Given the description of an element on the screen output the (x, y) to click on. 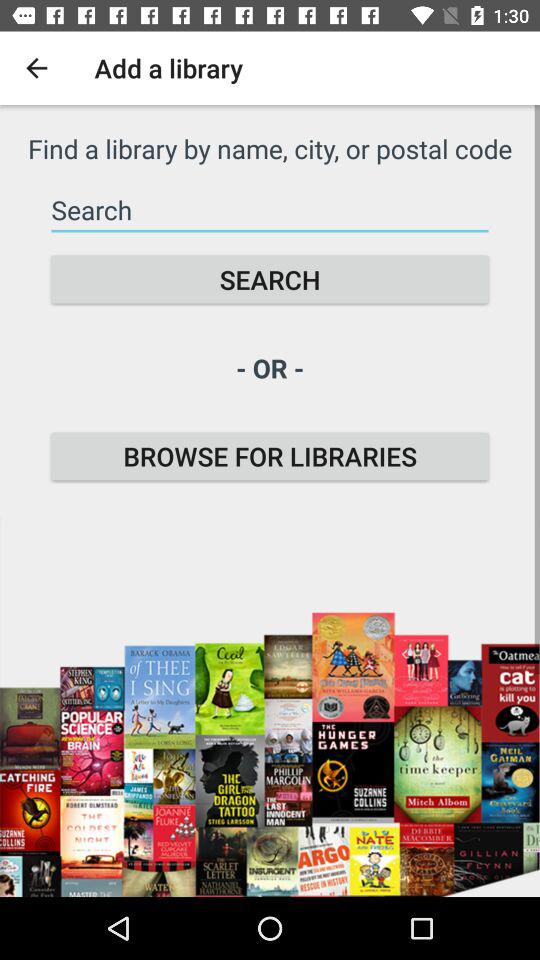
tap the icon above the - or - icon (269, 279)
